Given the description of an element on the screen output the (x, y) to click on. 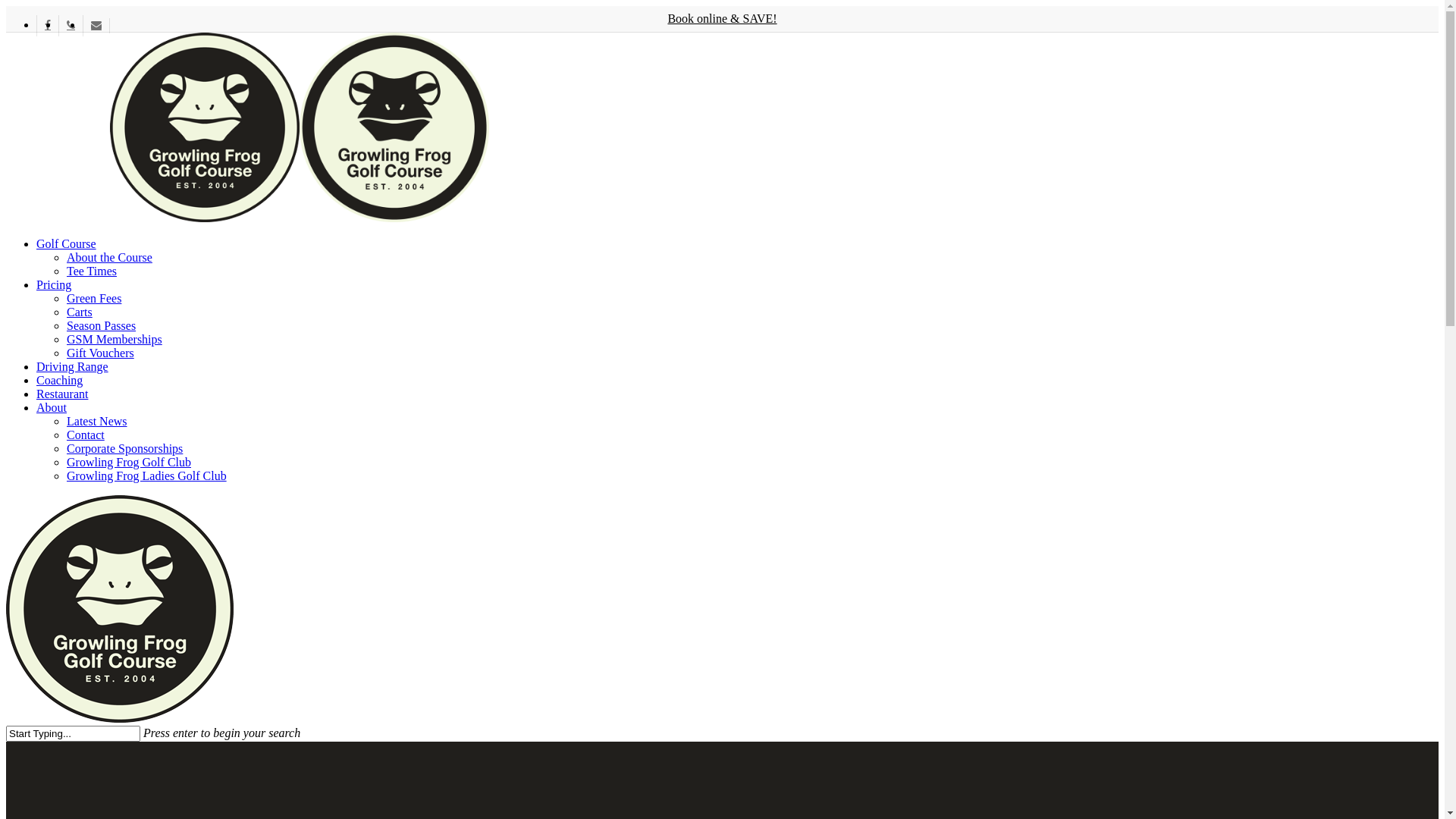
Golf Course Element type: text (66, 243)
About the Course Element type: text (109, 257)
Corporate Sponsorships Element type: text (124, 448)
Gift Vouchers Element type: text (100, 352)
Growling Frog Golf Club Element type: text (128, 461)
Latest News Element type: text (96, 420)
Pricing Element type: text (53, 284)
Book online & SAVE! Element type: text (721, 18)
Season Passes Element type: text (100, 325)
Restaurant Element type: text (61, 393)
Green Fees Element type: text (93, 297)
Growling Frog Ladies Golf Club Element type: text (146, 475)
Driving Range Element type: text (72, 366)
About Element type: text (51, 407)
Tee Times Element type: text (91, 270)
Carts Element type: text (79, 311)
Contact Element type: text (85, 434)
Coaching Element type: text (59, 379)
GSM Memberships Element type: text (114, 338)
